Given the description of an element on the screen output the (x, y) to click on. 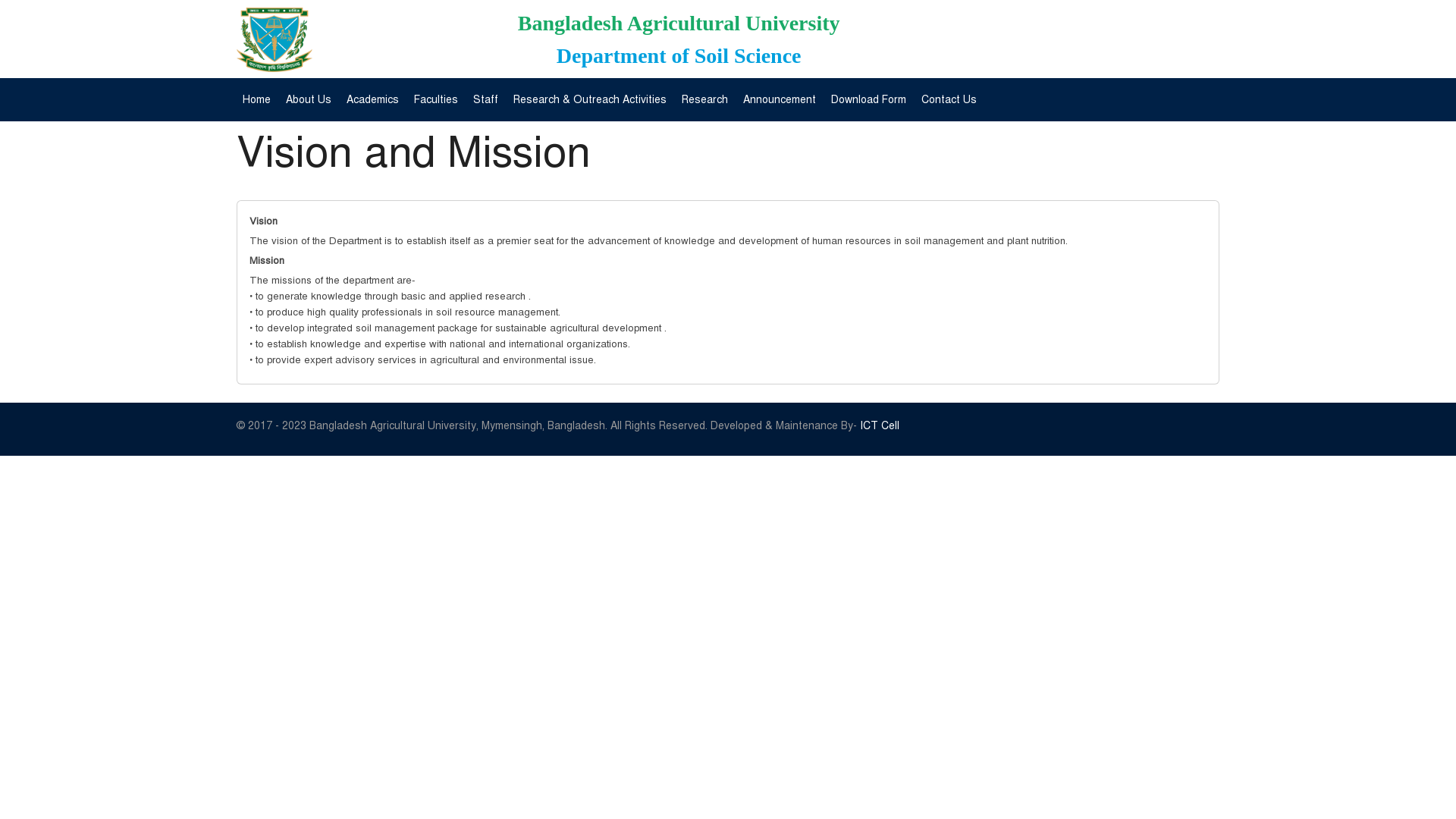
About Us Element type: text (308, 99)
Academics Element type: text (372, 99)
Contact Us Element type: text (948, 99)
Announcement Element type: text (779, 99)
Research & Outreach Activities Element type: text (589, 99)
ICT Cell Element type: text (879, 425)
Faculties Element type: text (435, 99)
Home Element type: text (256, 99)
Bangladesh Agricultural University Element type: text (678, 22)
Download Form Element type: text (868, 99)
Staff Element type: text (485, 99)
Research Element type: text (704, 99)
